Given the description of an element on the screen output the (x, y) to click on. 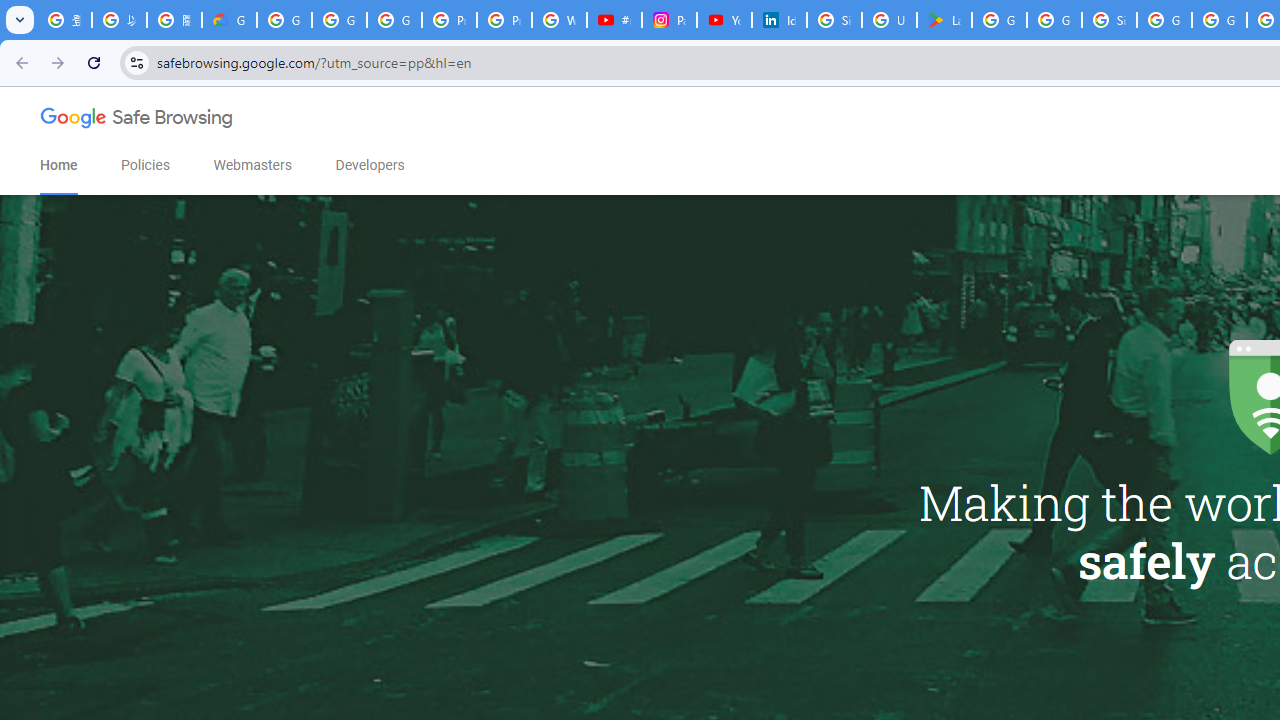
Webmasters (251, 165)
Home (58, 165)
Last Shelter: Survival - Apps on Google Play (943, 20)
#nbabasketballhighlights - YouTube (614, 20)
Sign in - Google Accounts (1108, 20)
Developers (369, 165)
